Given the description of an element on the screen output the (x, y) to click on. 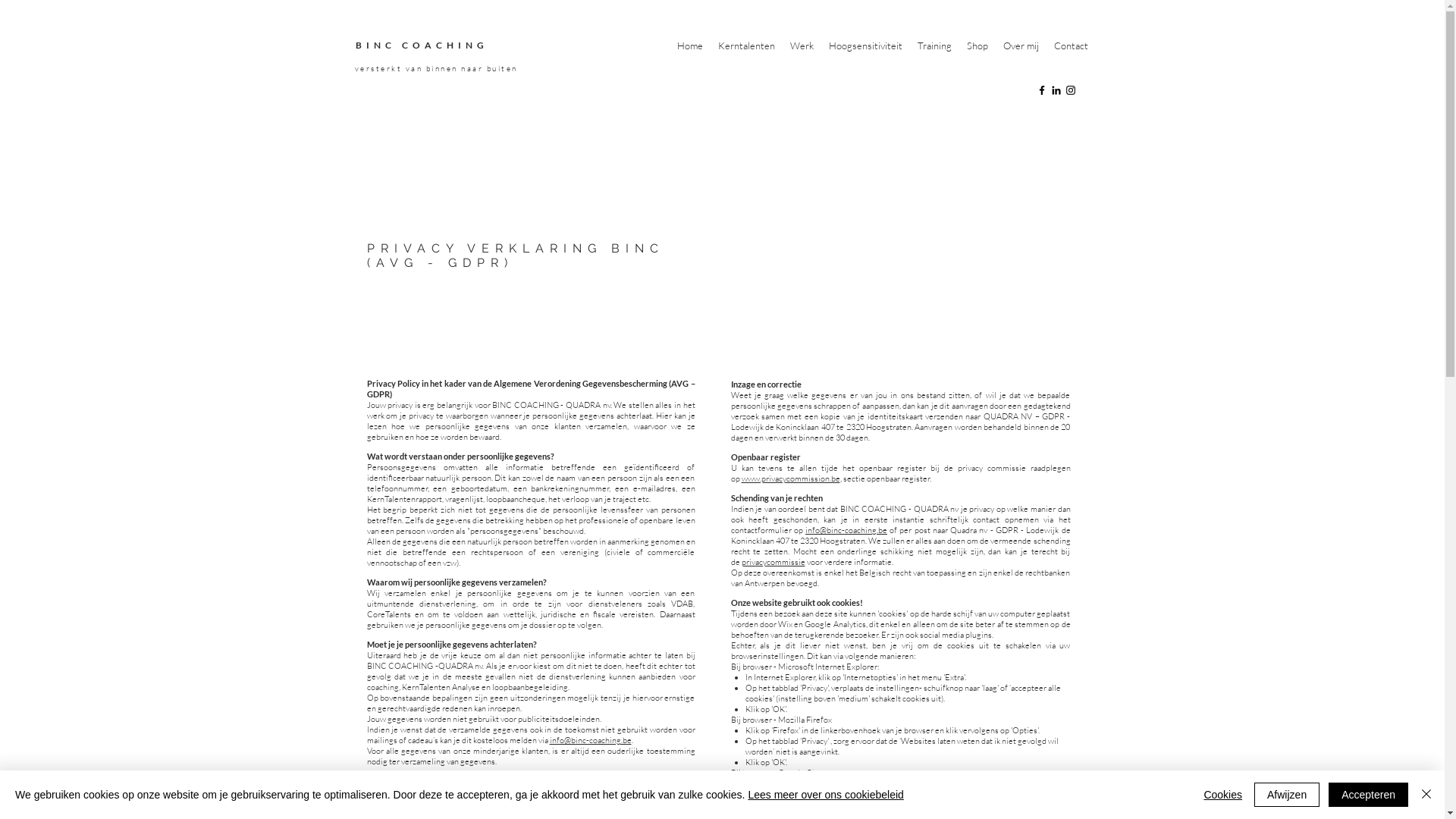
info@binc-coaching.be Element type: text (846, 529)
privacycommissie Element type: text (773, 561)
Over mij Element type: text (1019, 45)
Werk Element type: text (801, 45)
Shop Element type: text (976, 45)
Training Element type: text (934, 45)
Accepteren Element type: text (1368, 794)
Lees meer over ons cookiebeleid Element type: text (825, 794)
info@binc-coaching.be Element type: text (589, 739)
www.privacycommission.be Element type: text (790, 478)
versterkt van binnen naar buiten Element type: text (435, 68)
Home Element type: text (688, 45)
Contact Element type: text (1070, 45)
BINC COACHING Element type: text (420, 44)
Hoogsensitiviteit Element type: text (864, 45)
Afwijzen Element type: text (1286, 794)
Kerntalenten Element type: text (745, 45)
